Given the description of an element on the screen output the (x, y) to click on. 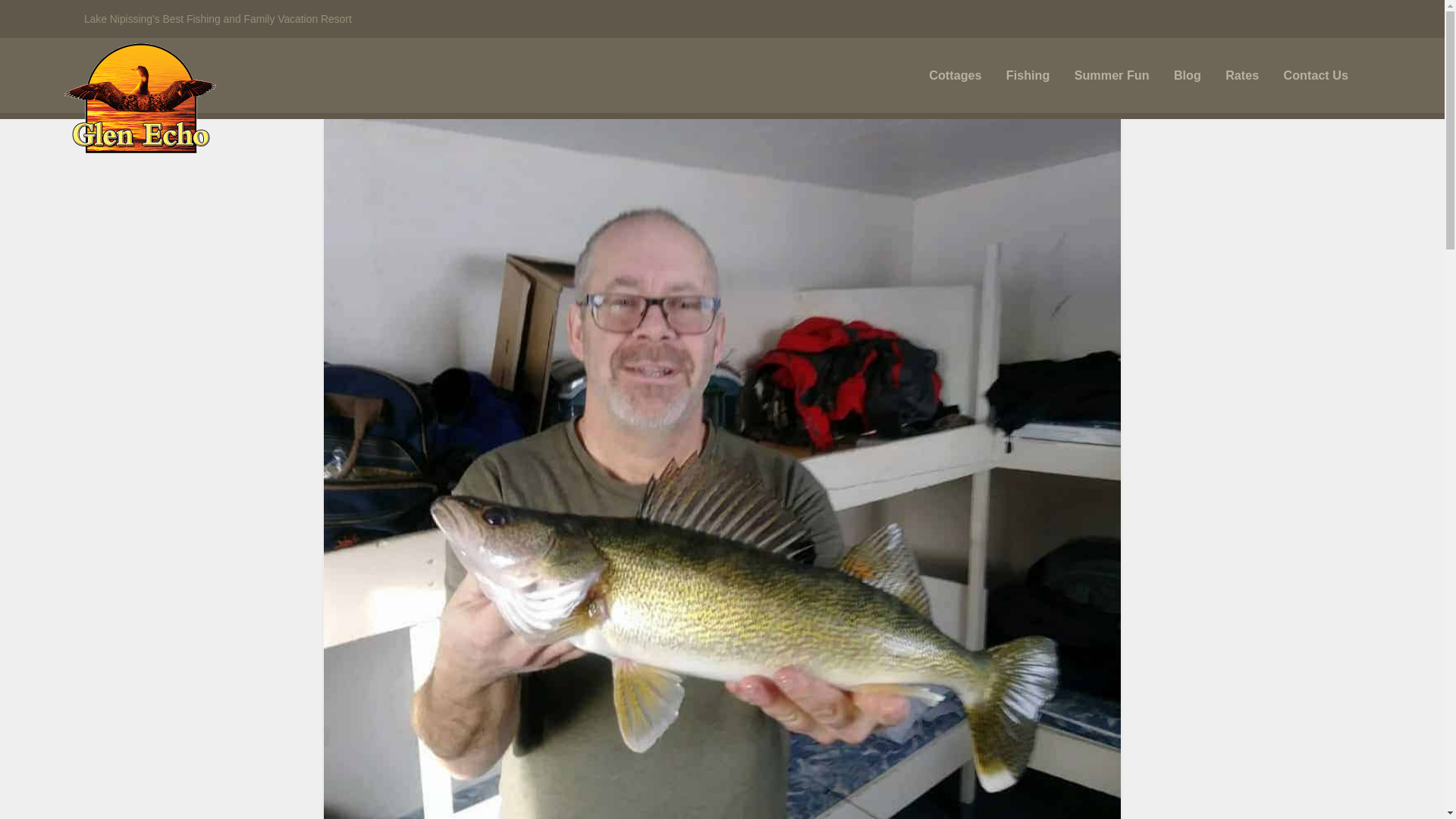
Contact Us (1315, 75)
Summer Fun (1111, 75)
Fishing (1028, 75)
Lake Nipissing's Best Fishing and Family Vacation Resort (139, 98)
Cottages (955, 75)
